Given the description of an element on the screen output the (x, y) to click on. 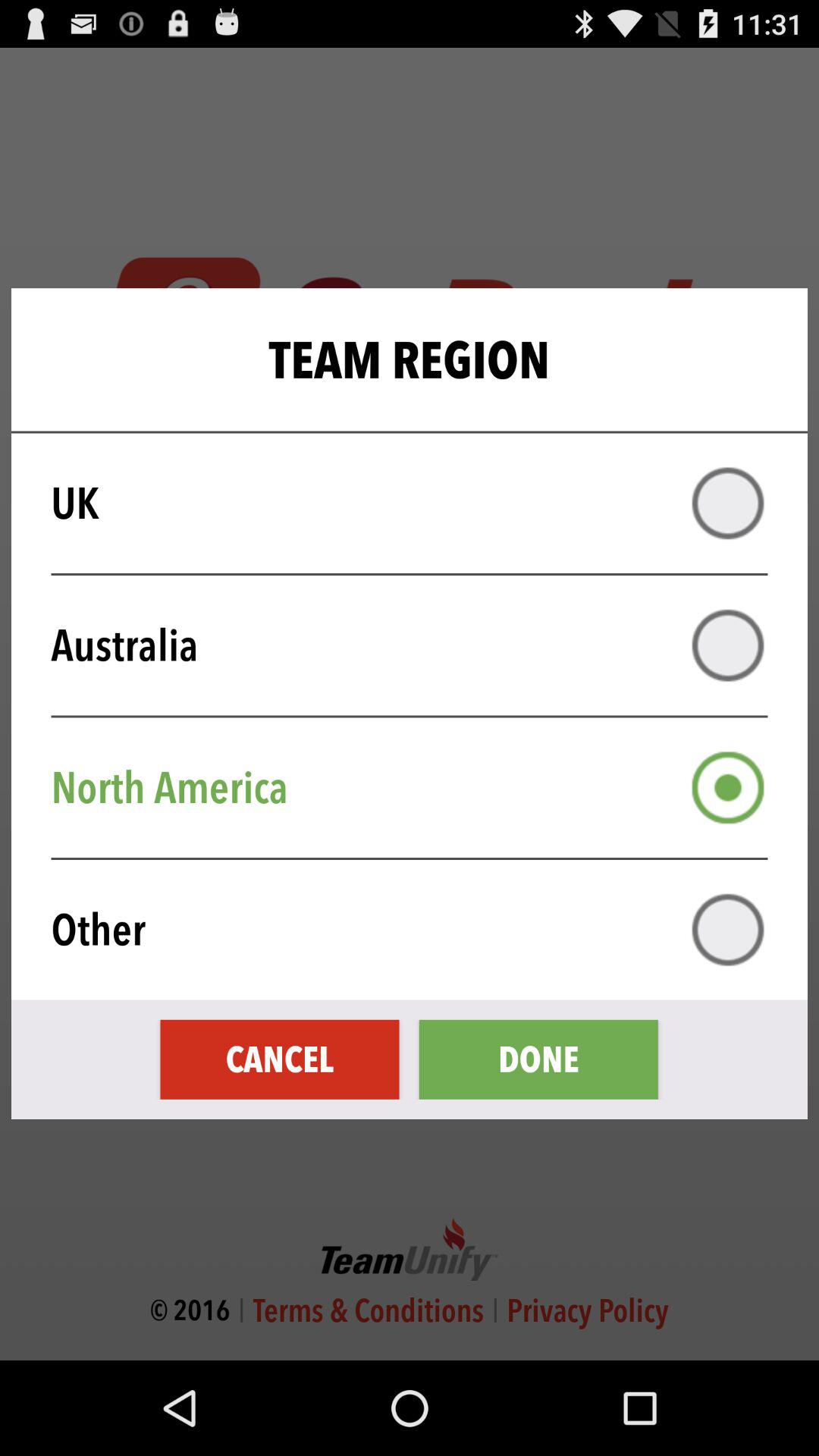
turn on the other item (419, 929)
